Given the description of an element on the screen output the (x, y) to click on. 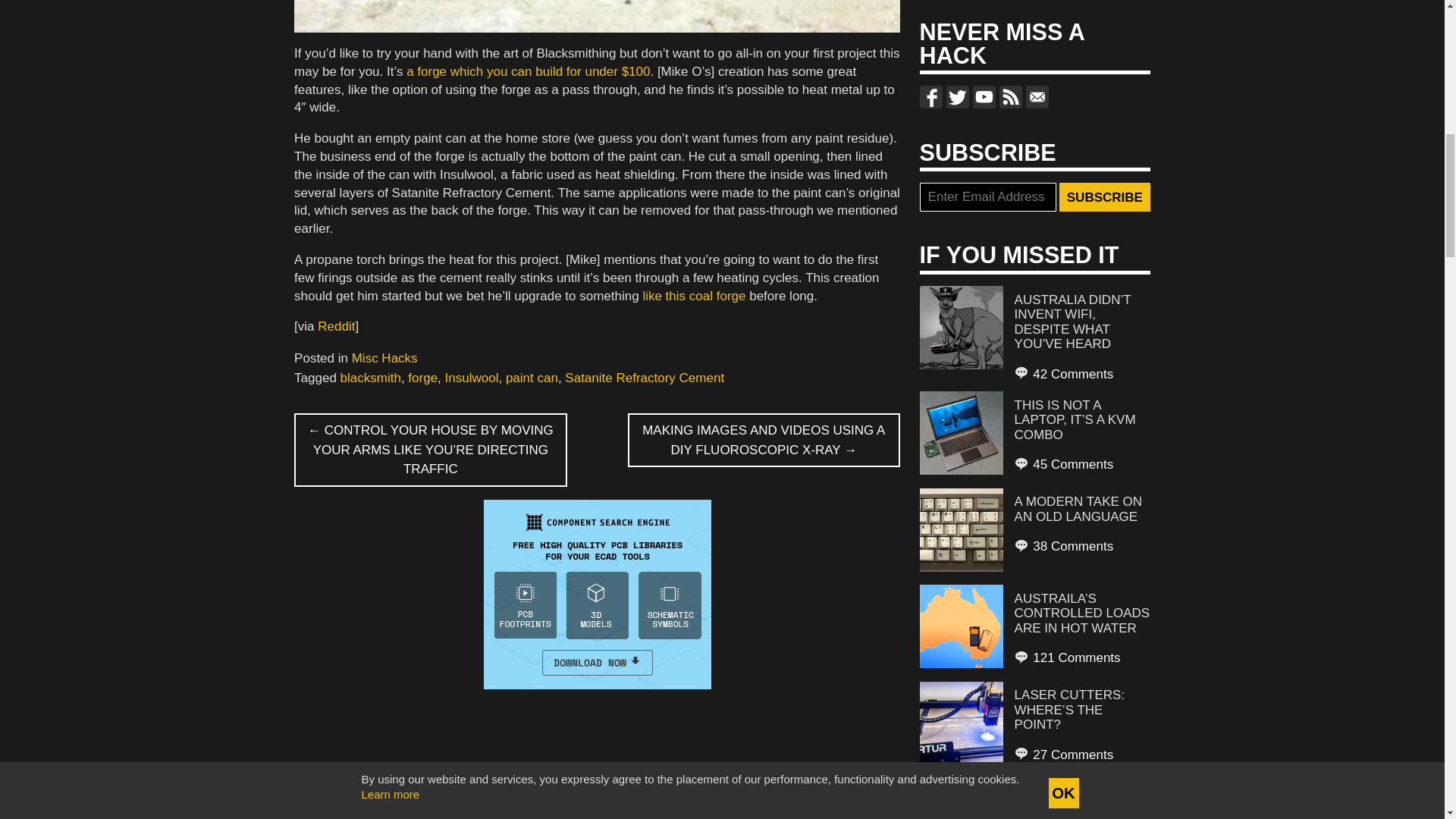
Reddit (336, 326)
paint can (531, 377)
like this coal forge (693, 296)
blacksmith (370, 377)
Subscribe (1104, 196)
Insulwool (472, 377)
Satanite Refractory Cement (643, 377)
forge (422, 377)
Misc Hacks (384, 358)
